Given the description of an element on the screen output the (x, y) to click on. 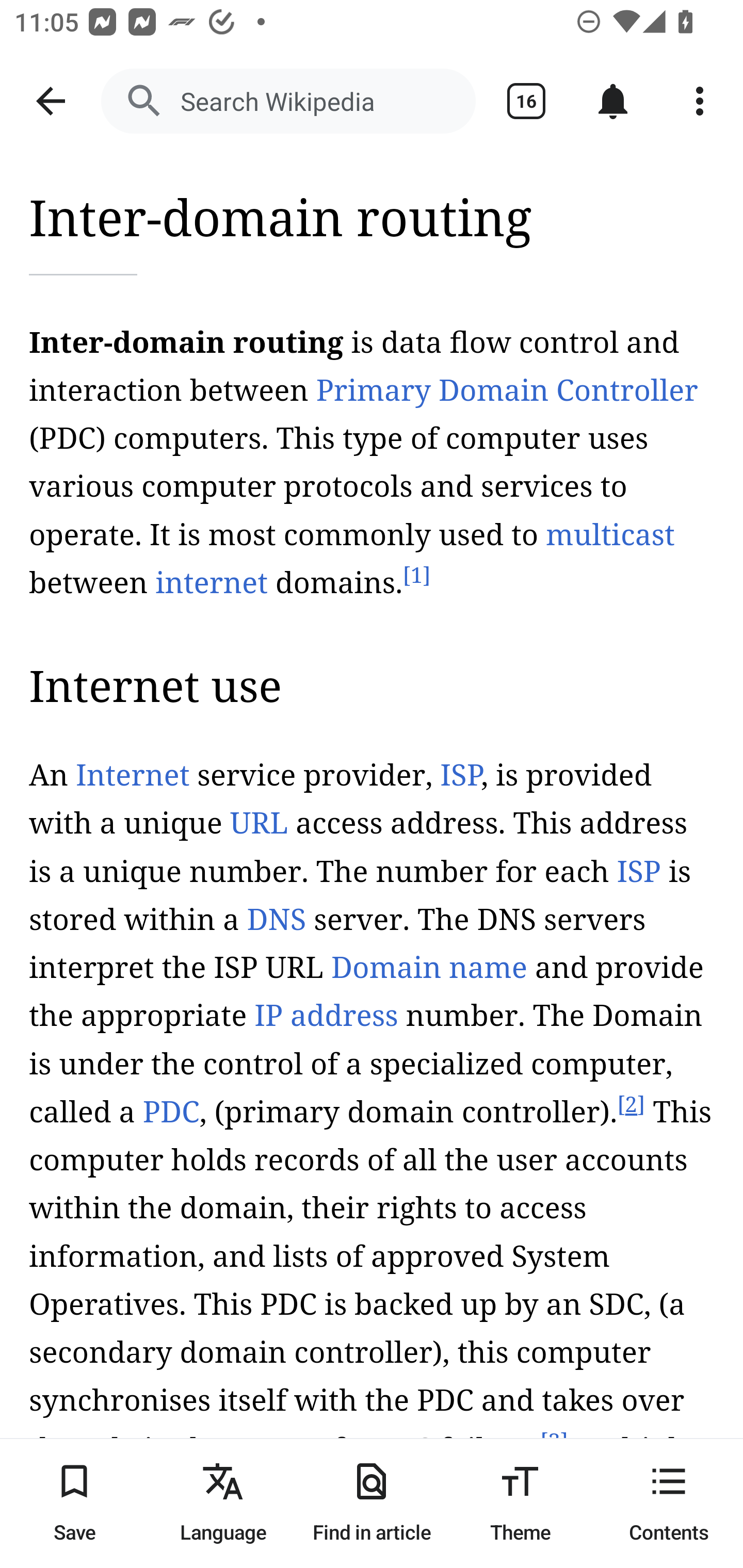
Show tabs 16 (525, 100)
Notifications (612, 100)
Navigate up (50, 101)
More options (699, 101)
Search Wikipedia (288, 100)
# (329, 277)
Primary Domain Controller (506, 390)
multicast (610, 533)
[] [ 1 ] (416, 575)
internet (211, 582)
Internet (132, 776)
ISP (460, 776)
URL (258, 823)
ISP (638, 870)
DNS (275, 921)
Domain name (428, 968)
IP address (325, 1016)
[] [ 2 ] (630, 1105)
PDC (170, 1112)
Save (74, 1502)
Language (222, 1502)
Find in article (371, 1502)
Theme (519, 1502)
Contents (668, 1502)
